Given the description of an element on the screen output the (x, y) to click on. 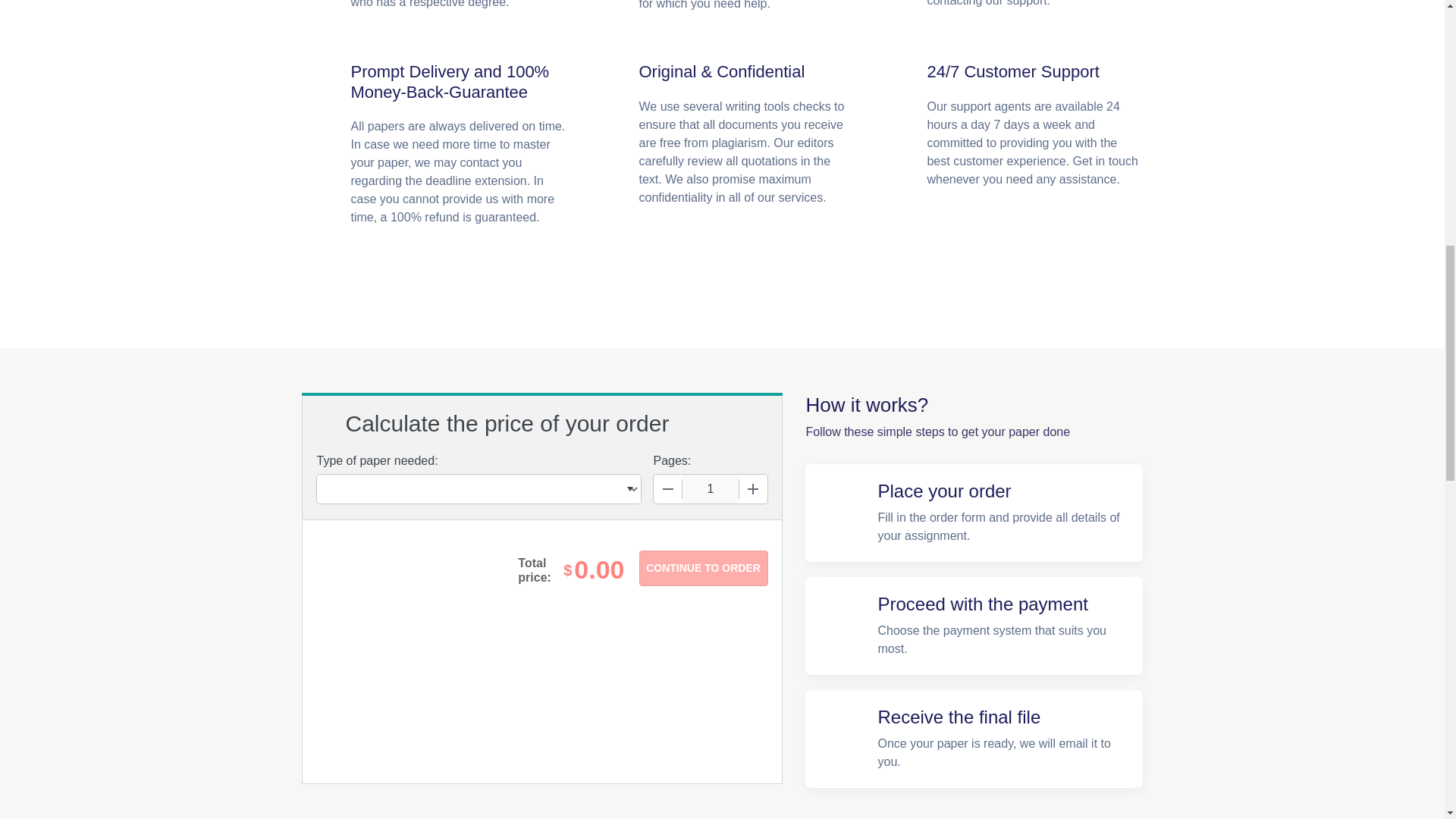
Decrease (667, 489)
Continue to order (703, 568)
Increase (752, 489)
Continue to order (703, 568)
Continue to Order (703, 568)
1 (710, 489)
